Given the description of an element on the screen output the (x, y) to click on. 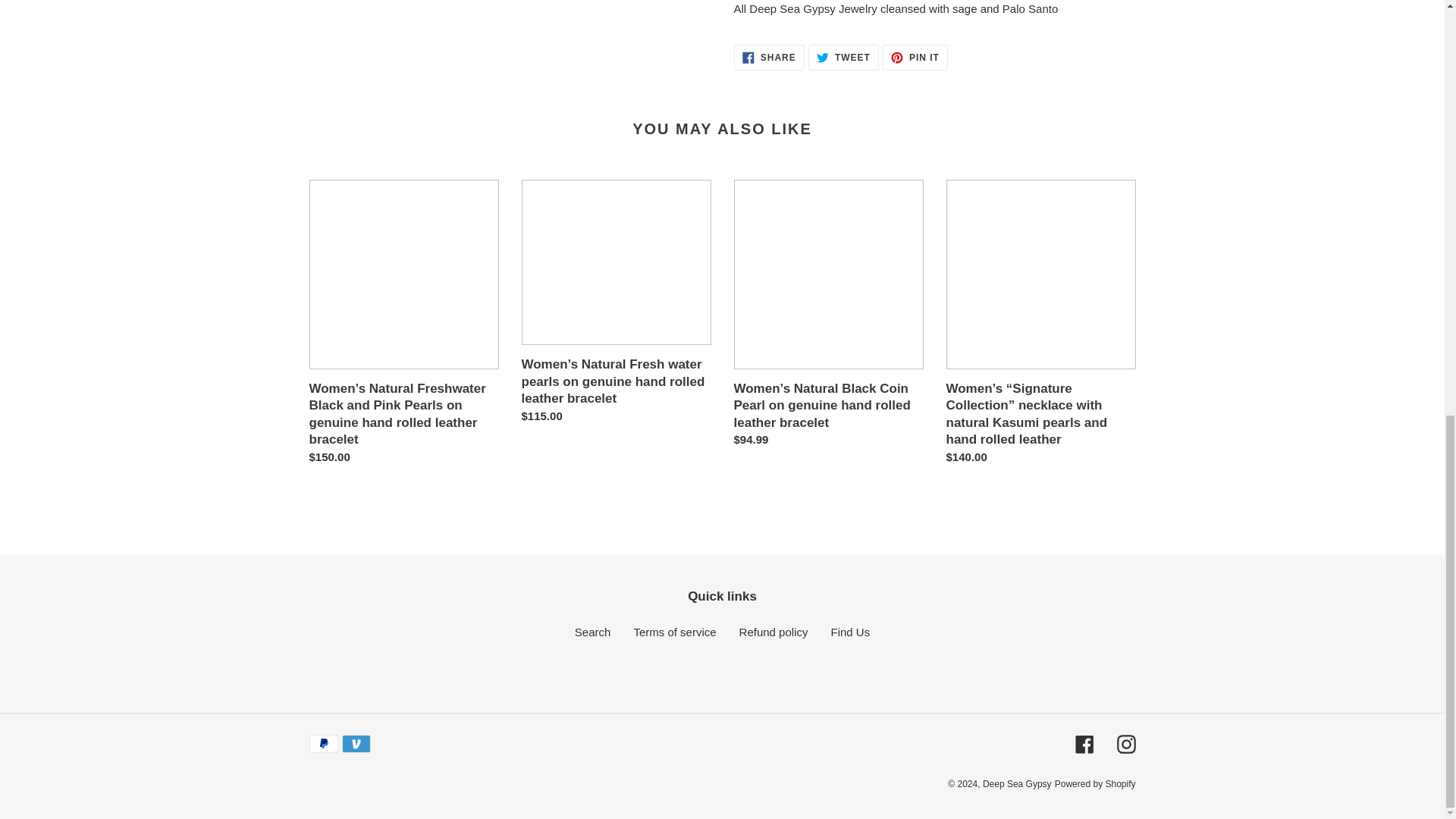
Search (914, 57)
Refund policy (593, 631)
Facebook (773, 631)
Powered by Shopify (1084, 743)
Deep Sea Gypsy (769, 57)
Instagram (1094, 783)
Find Us (1016, 783)
Terms of service (843, 57)
